Given the description of an element on the screen output the (x, y) to click on. 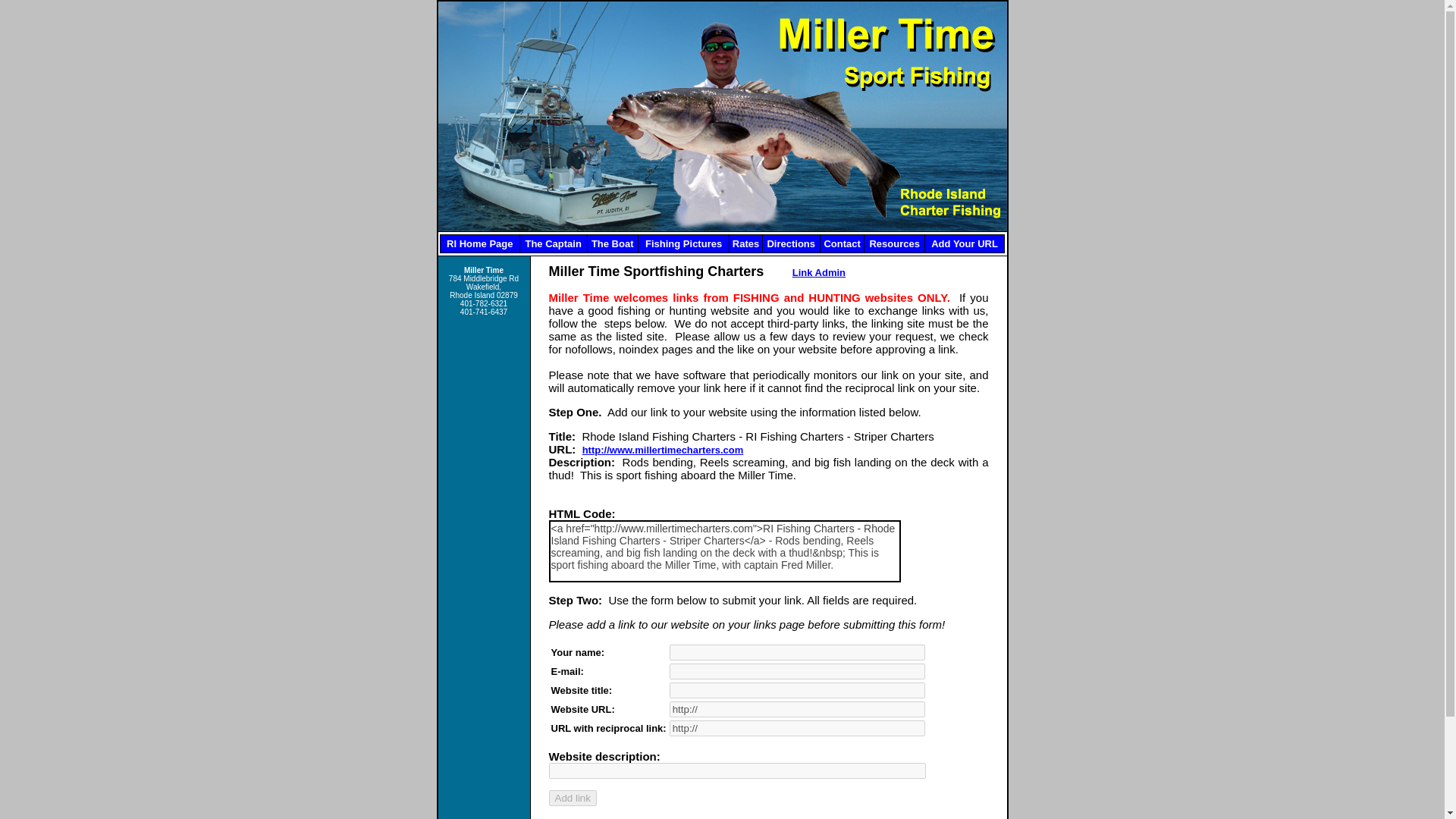
Resources (893, 243)
Add link (572, 797)
Fishing Pictures (683, 243)
RI Home Page (479, 243)
The Captain (552, 243)
Rates (745, 243)
Contact (842, 243)
The Boat (612, 243)
Add Your URL (964, 243)
Directions (791, 243)
Link Admin (818, 272)
Add link (572, 797)
